Given the description of an element on the screen output the (x, y) to click on. 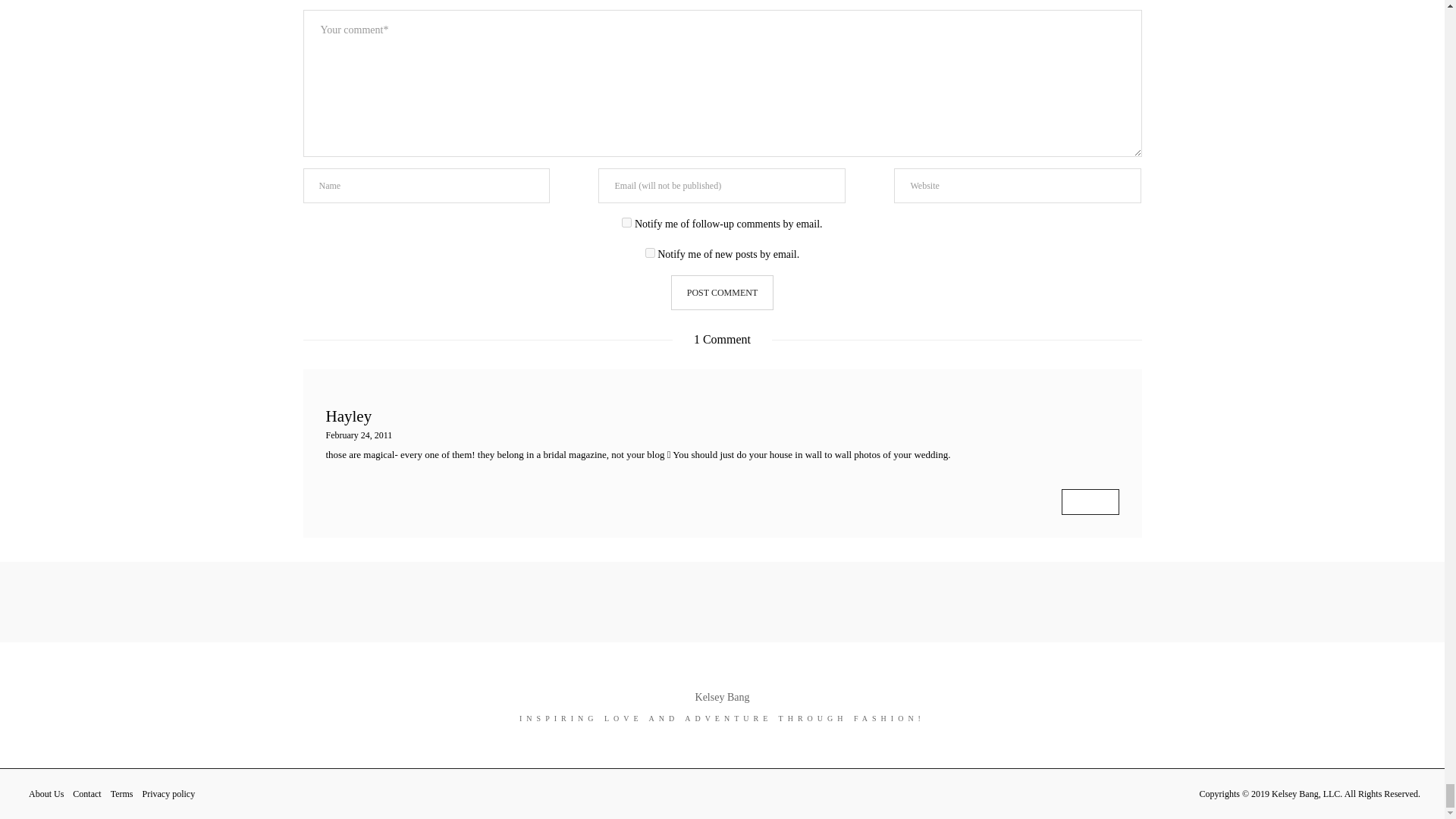
Inspiring Love and Adventure Through Fashion! (722, 696)
subscribe (650, 252)
Post comment (722, 292)
subscribe (626, 222)
